Given the description of an element on the screen output the (x, y) to click on. 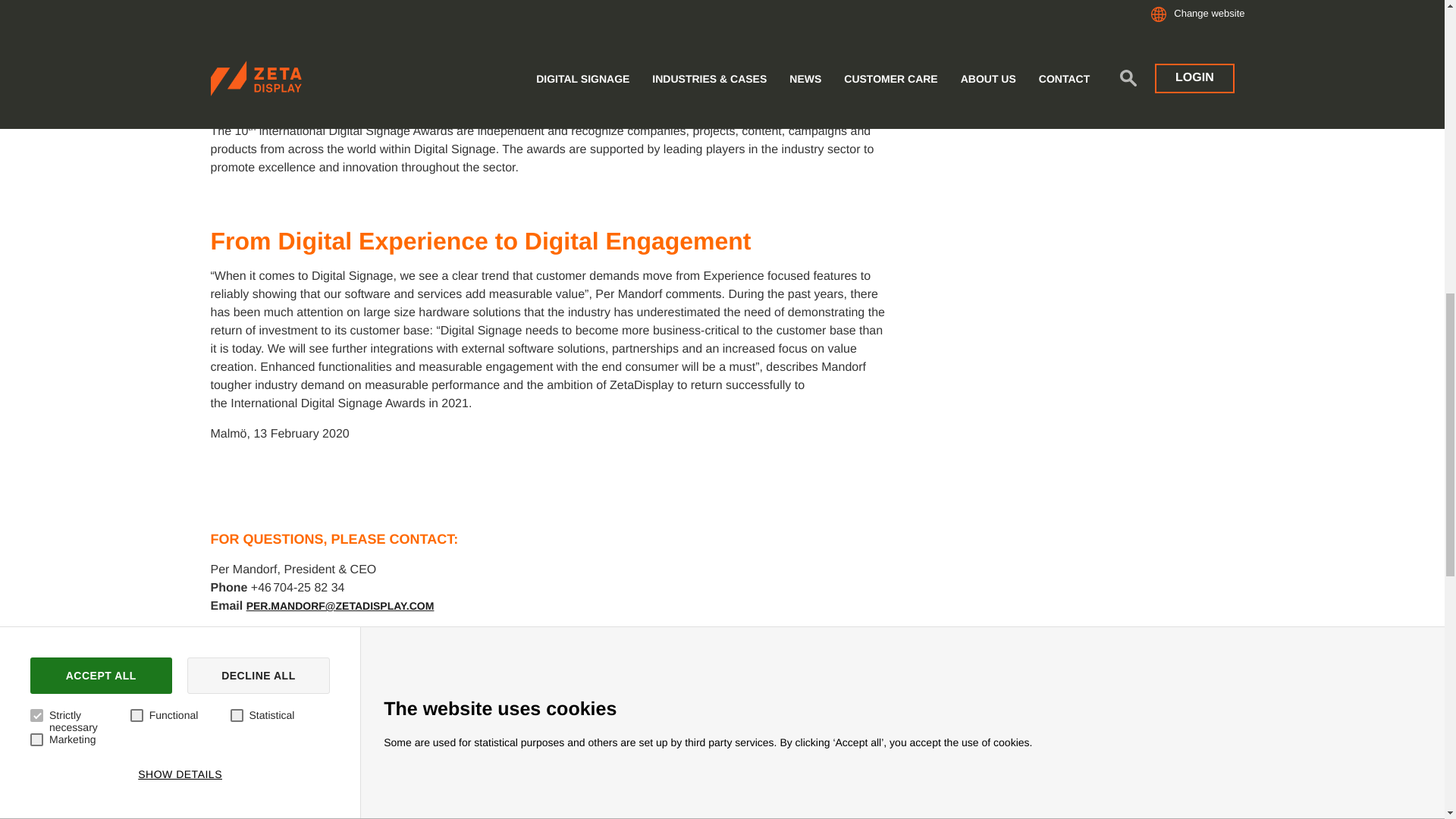
.hsforms.com (1331, 179)
JSESSIONID (1157, 80)
.nr-data.net (1331, 80)
Session (983, 130)
Cloudflare (462, 130)
ABOUT COOKIES (270, 21)
Session (983, 80)
Pending (636, 130)
New Relic (462, 80)
Cloudflare (462, 179)
Session (983, 179)
Cloudflare (462, 228)
.hubspot.com (1331, 130)
COOKIE POLICY (90, 21)
